Given the description of an element on the screen output the (x, y) to click on. 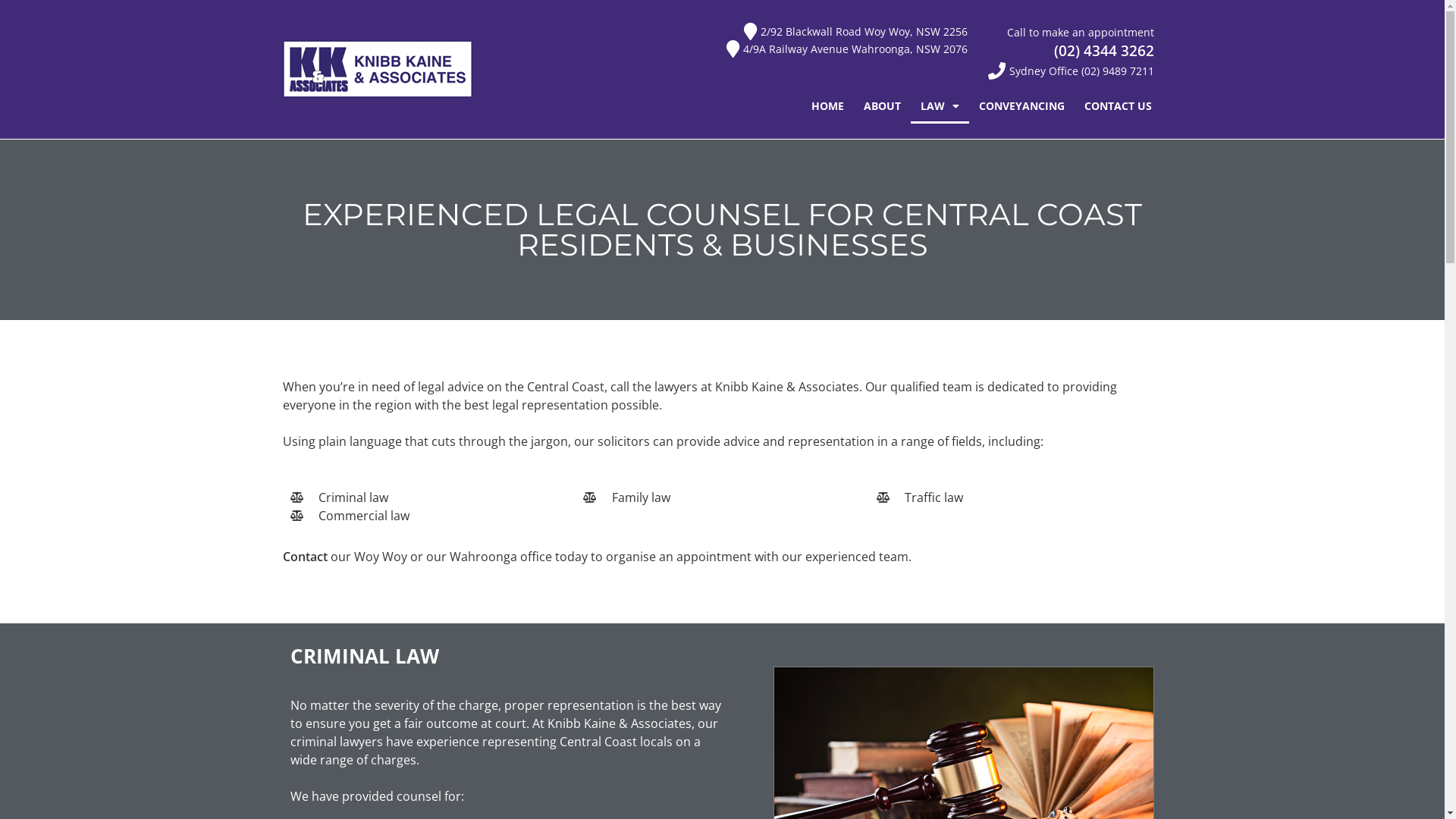
(02) 4344 3262 Element type: text (1104, 50)
ABOUT Element type: text (881, 105)
LAW Element type: text (939, 105)
Contact Element type: text (304, 556)
HOME Element type: text (827, 105)
4/9A Railway Avenue Wahroonga, NSW 2076 Element type: text (745, 48)
2/92 Blackwall Road Woy Woy, NSW 2256 Element type: text (745, 31)
Commercial law Element type: text (428, 515)
Family law Element type: text (722, 497)
CONTACT US Element type: text (1117, 105)
Criminal law Element type: text (428, 497)
CONVEYANCING Element type: text (1021, 105)
Traffic law Element type: text (1015, 497)
